Given the description of an element on the screen output the (x, y) to click on. 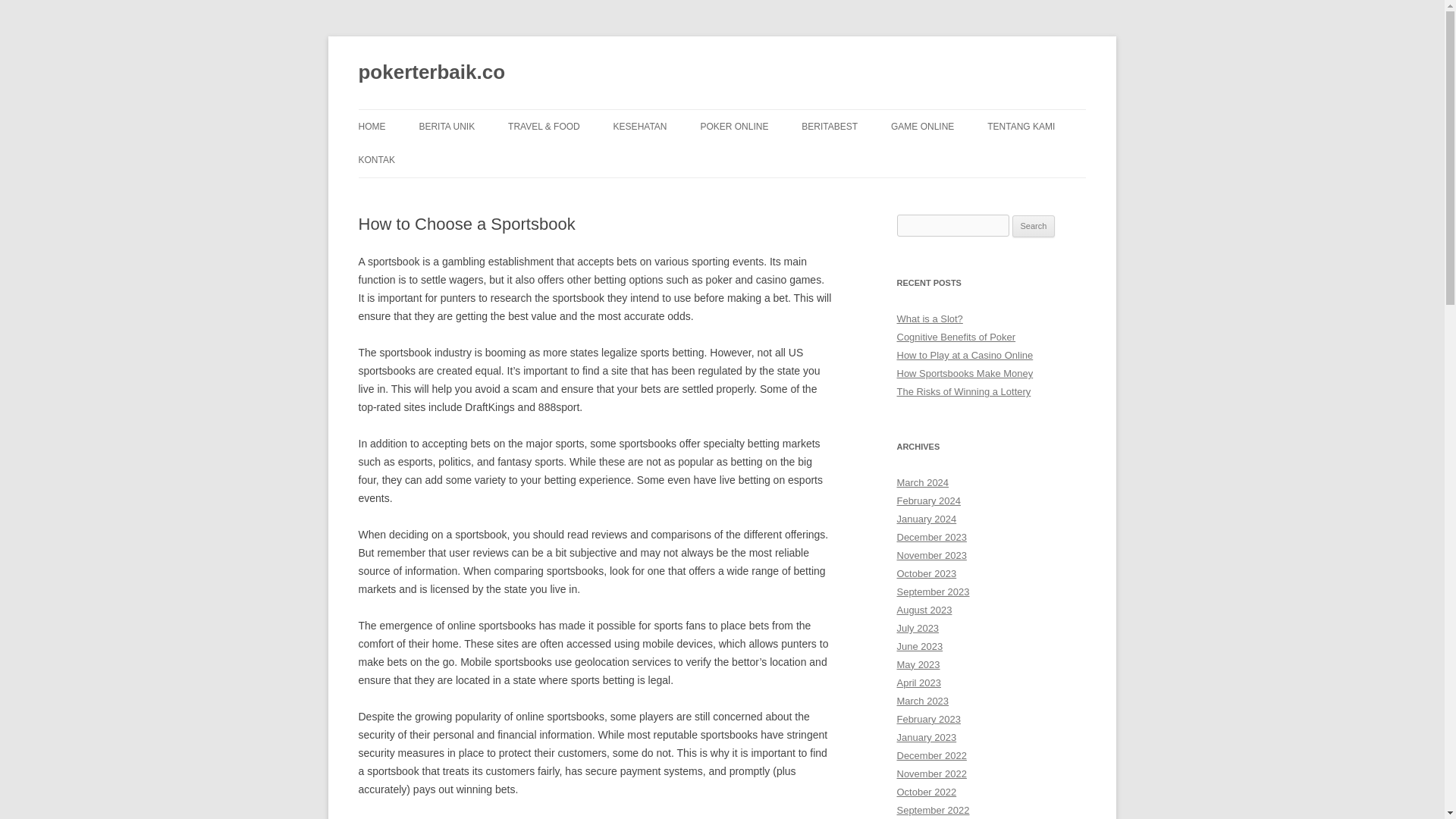
December 2023 (931, 536)
February 2023 (927, 718)
March 2024 (922, 482)
The Risks of Winning a Lottery (963, 391)
pokerterbaik.co (431, 72)
KONTAK (376, 159)
October 2023 (926, 573)
How to Play at a Casino Online (964, 355)
May 2023 (917, 664)
GAME ONLINE (922, 126)
November 2022 (931, 773)
Cognitive Benefits of Poker (955, 337)
KESEHATAN (639, 126)
November 2023 (931, 555)
